Given the description of an element on the screen output the (x, y) to click on. 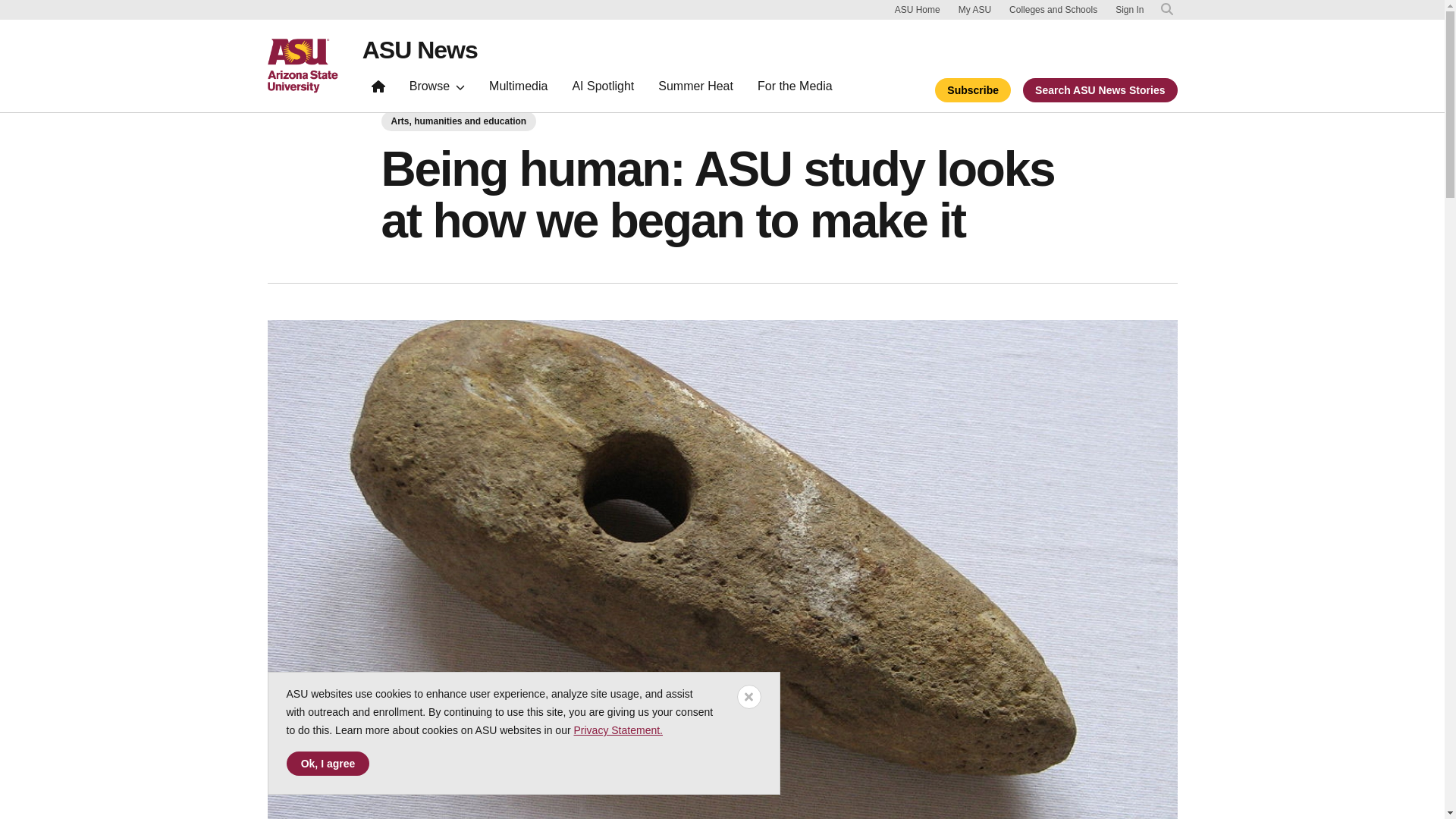
My ASU (974, 9)
AI Spotlight (602, 89)
AI Spotlight (602, 89)
For the Media (794, 89)
ASU News home page (419, 49)
Multimedia (518, 89)
Browse (437, 89)
ASU home page (301, 65)
ASU News home page (378, 89)
Ok, I agree (327, 763)
Colleges and Schools (1053, 9)
Privacy Statement. (617, 729)
For the Media (794, 89)
Subscribe (972, 88)
